Given the description of an element on the screen output the (x, y) to click on. 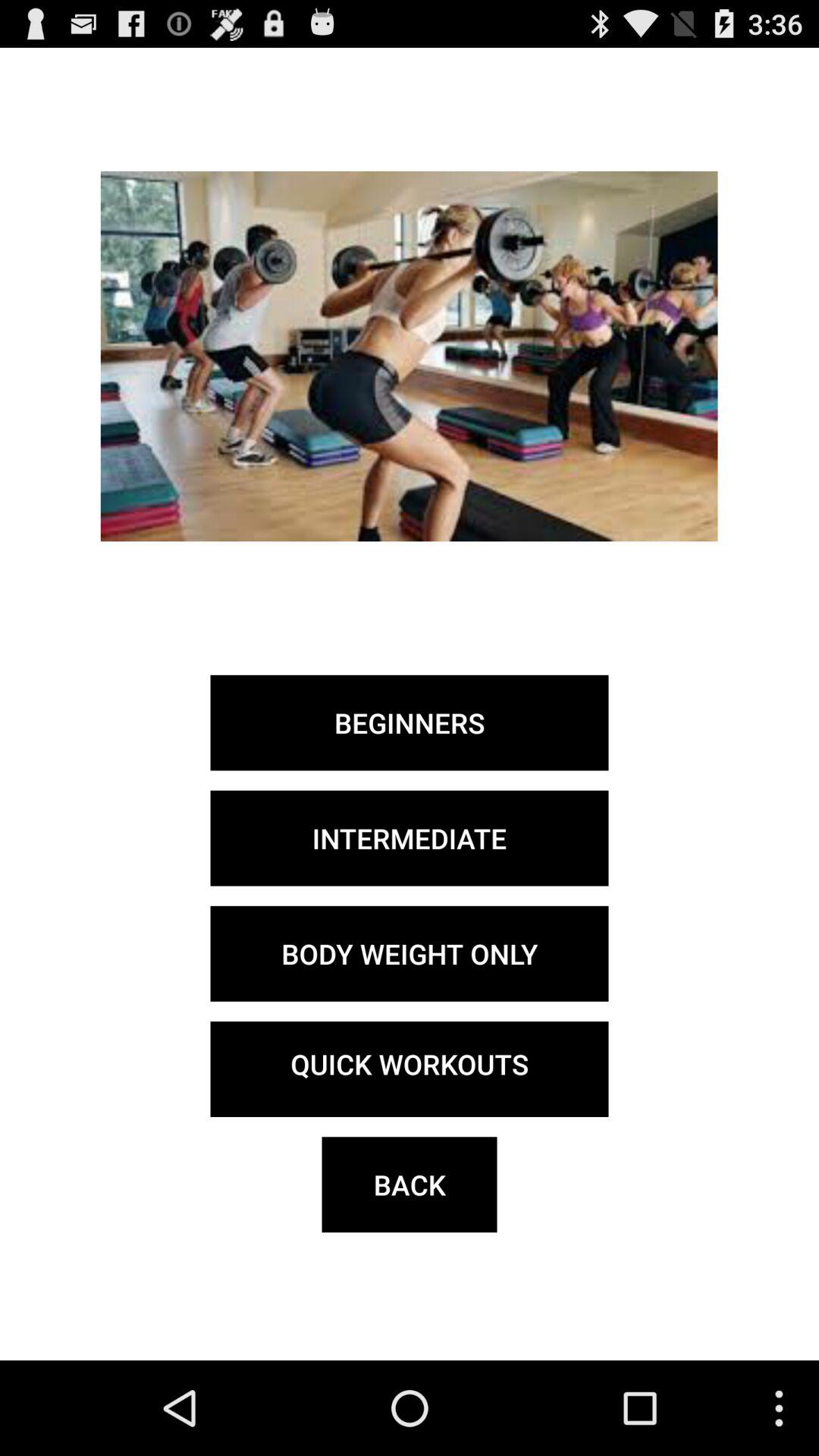
swipe to back item (409, 1184)
